Given the description of an element on the screen output the (x, y) to click on. 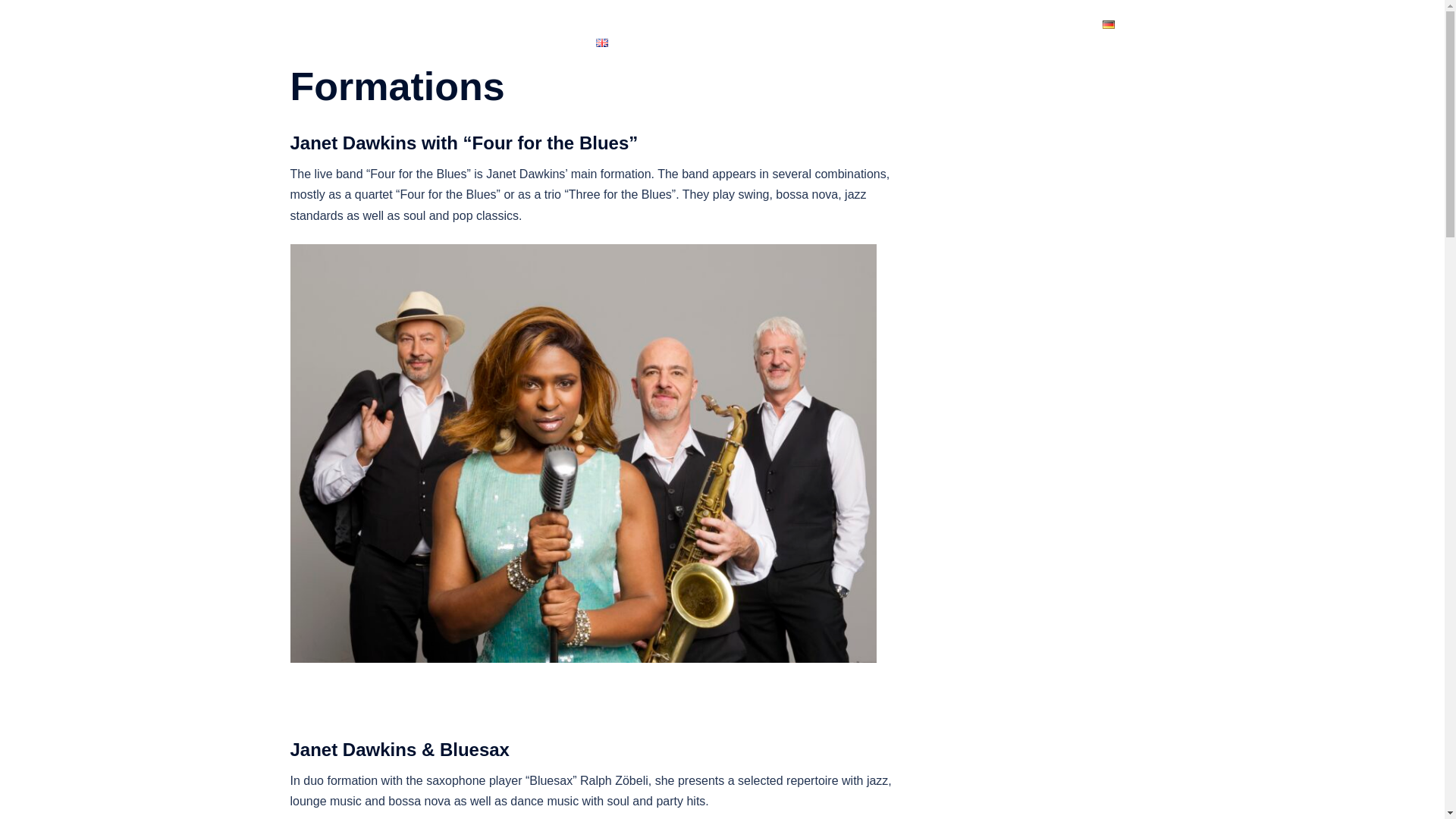
Home (609, 24)
Gallery (916, 24)
Janet Dawkins (373, 32)
Biography (670, 24)
Sounds (785, 24)
Contact (1063, 24)
Formations (852, 24)
Vocal Lessons (989, 24)
Videos (731, 24)
